Given the description of an element on the screen output the (x, y) to click on. 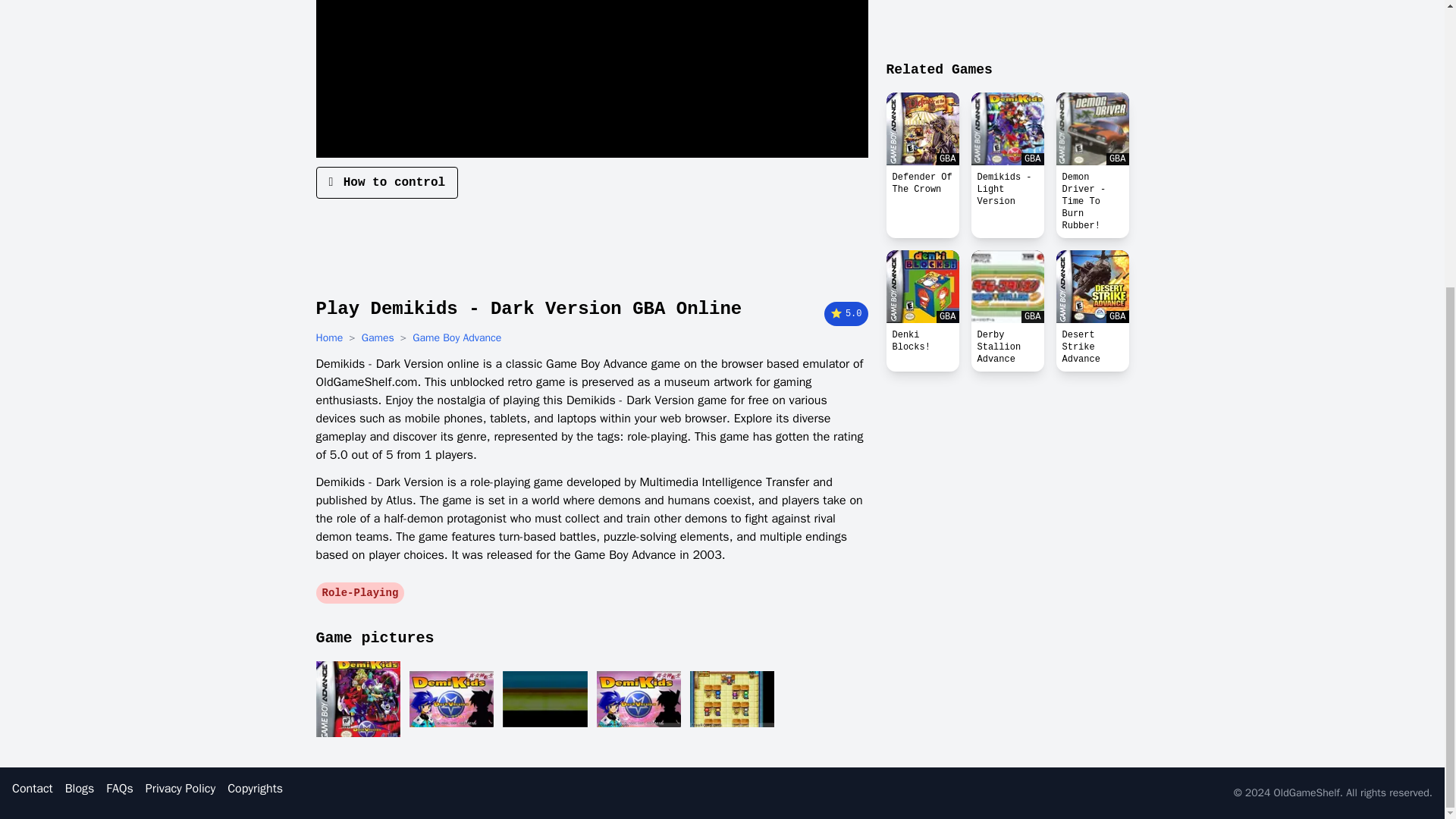
FAQs (119, 788)
Demikids - Dark Version game screenshot 1 (356, 698)
Games (377, 337)
Copyrights (254, 788)
Demon Driver - Time To Burn Rubber! (1091, 201)
Game Boy Advance (456, 337)
Game Boy Advance (456, 337)
GBA (1091, 128)
Role-Playing (359, 592)
GBA (1091, 286)
